Given the description of an element on the screen output the (x, y) to click on. 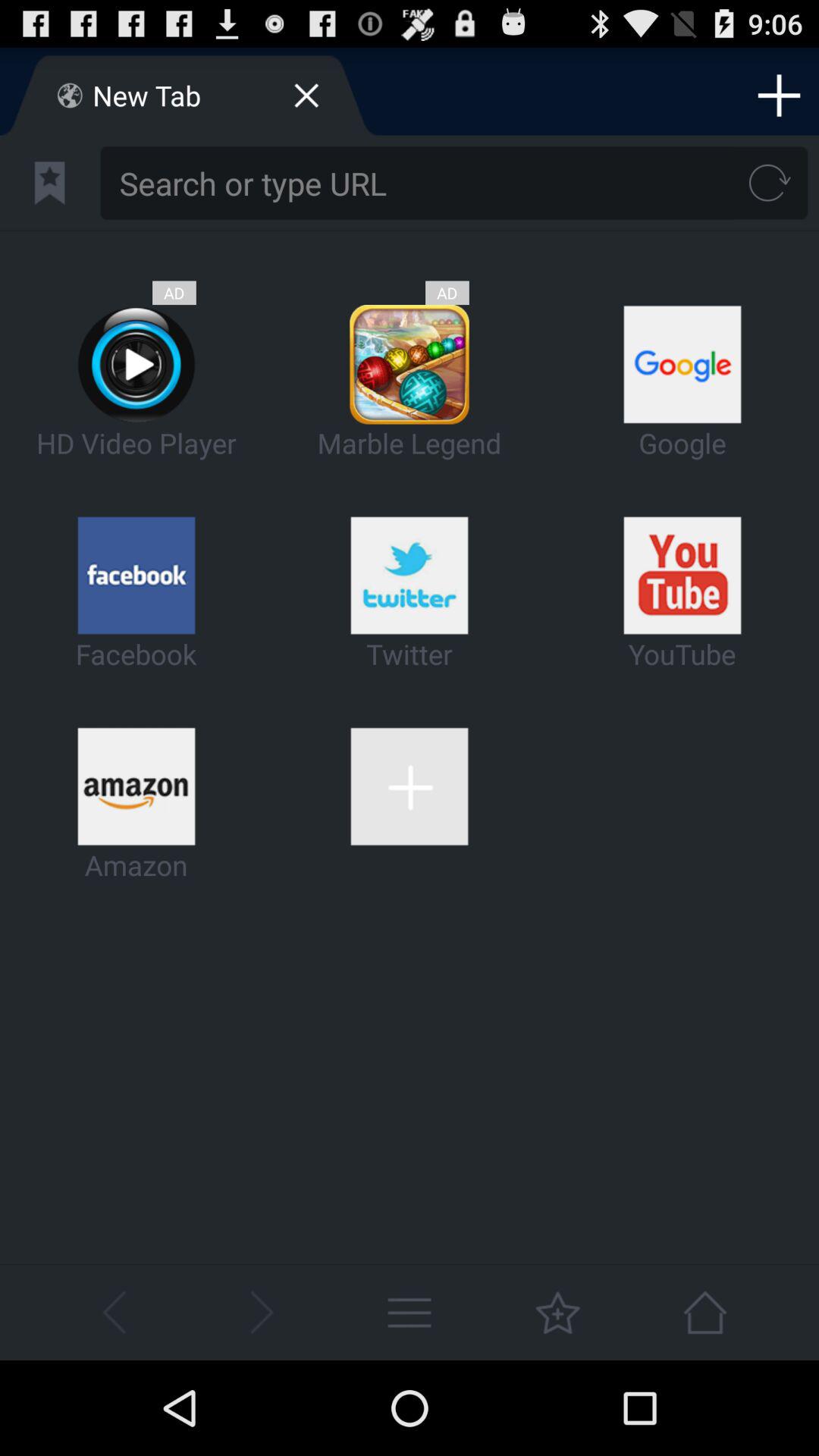
click on search or type url field (418, 183)
